Given the description of an element on the screen output the (x, y) to click on. 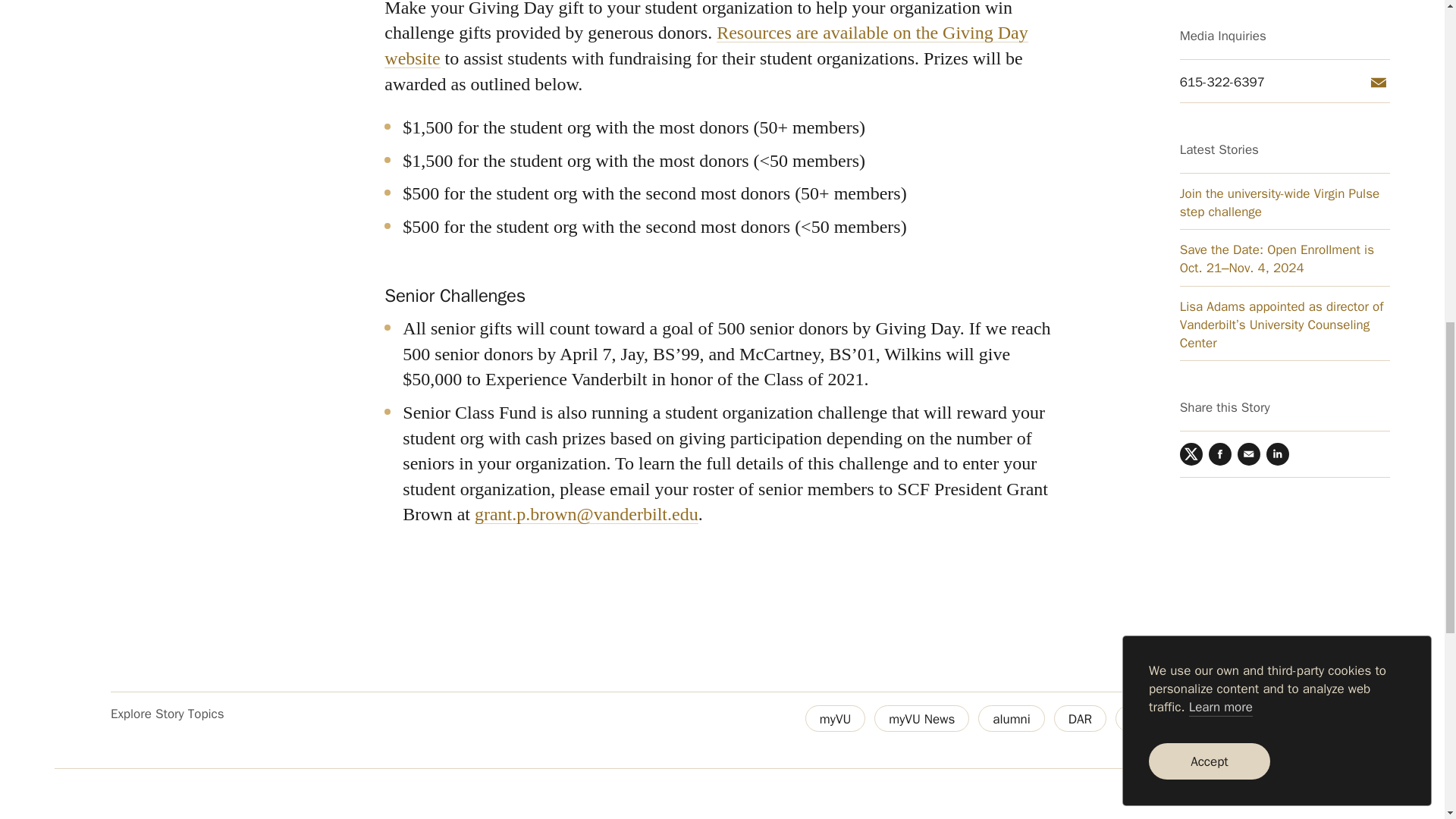
Twitter (1190, 32)
alumni (1011, 718)
Giving Day 2021 (1272, 718)
Giving Day (1158, 718)
myVU (834, 718)
Resources are available on the Giving Day website (705, 44)
myVU News (922, 718)
DAR (1080, 718)
Facebook (1219, 32)
Email (1248, 32)
